Given the description of an element on the screen output the (x, y) to click on. 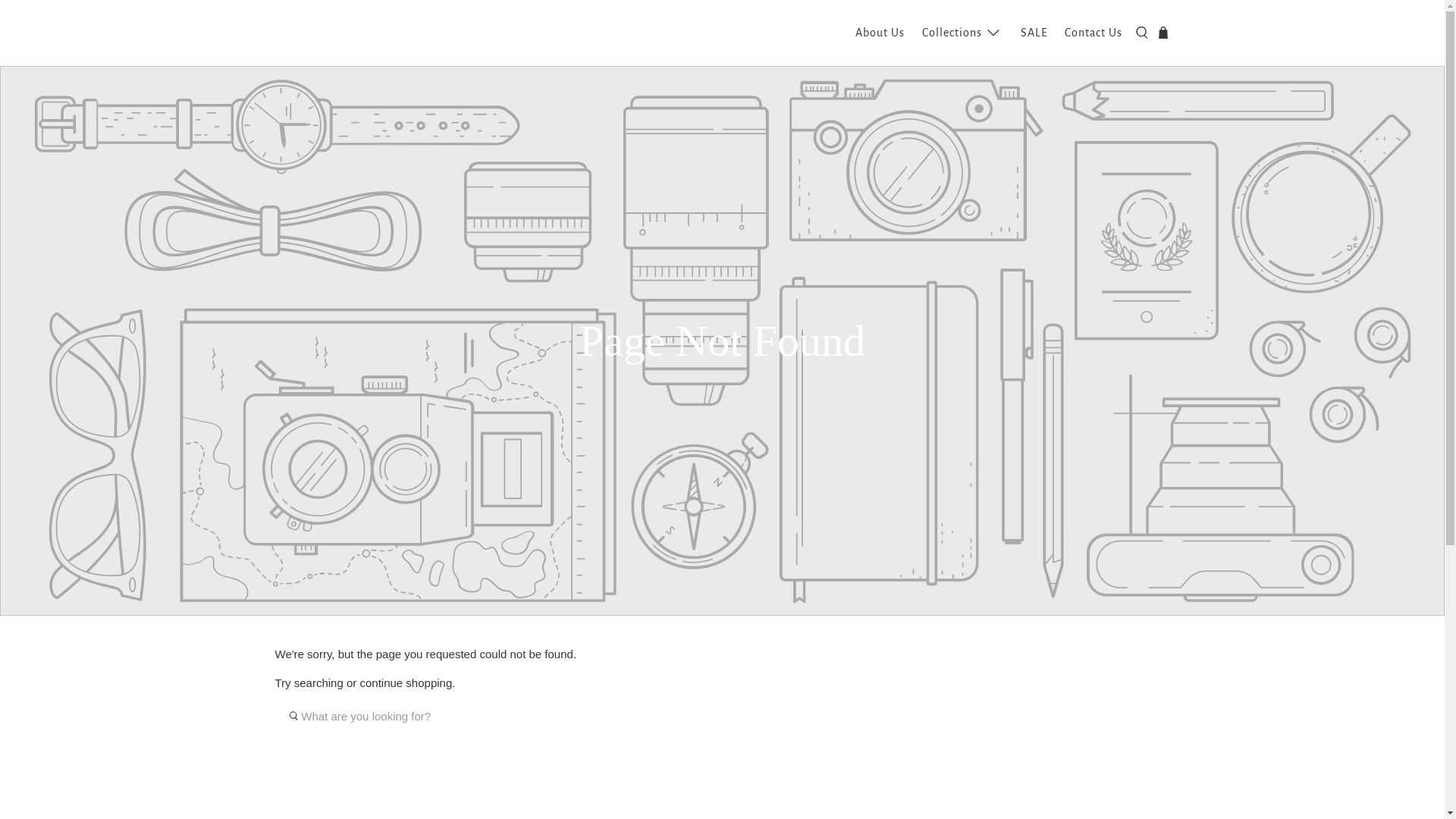
continue shopping Element type: text (405, 682)
About Us Element type: text (880, 32)
Contact Us Element type: text (1093, 32)
Gemajesty Jewellery Element type: hover (347, 32)
Collections Element type: text (962, 32)
SALE Element type: text (1033, 32)
